Given the description of an element on the screen output the (x, y) to click on. 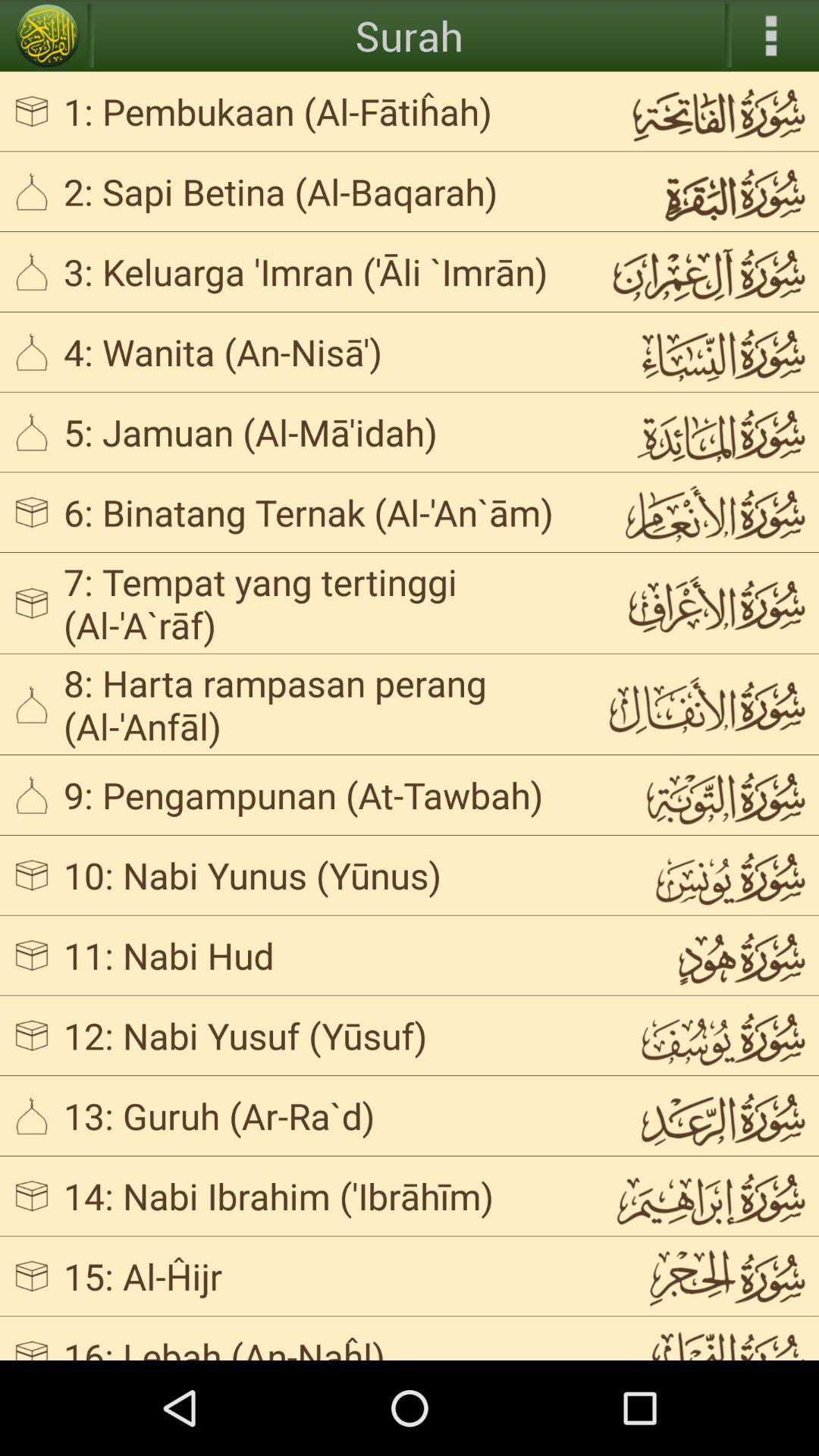
turn on the icon above 7 tempat yang item (322, 511)
